Given the description of an element on the screen output the (x, y) to click on. 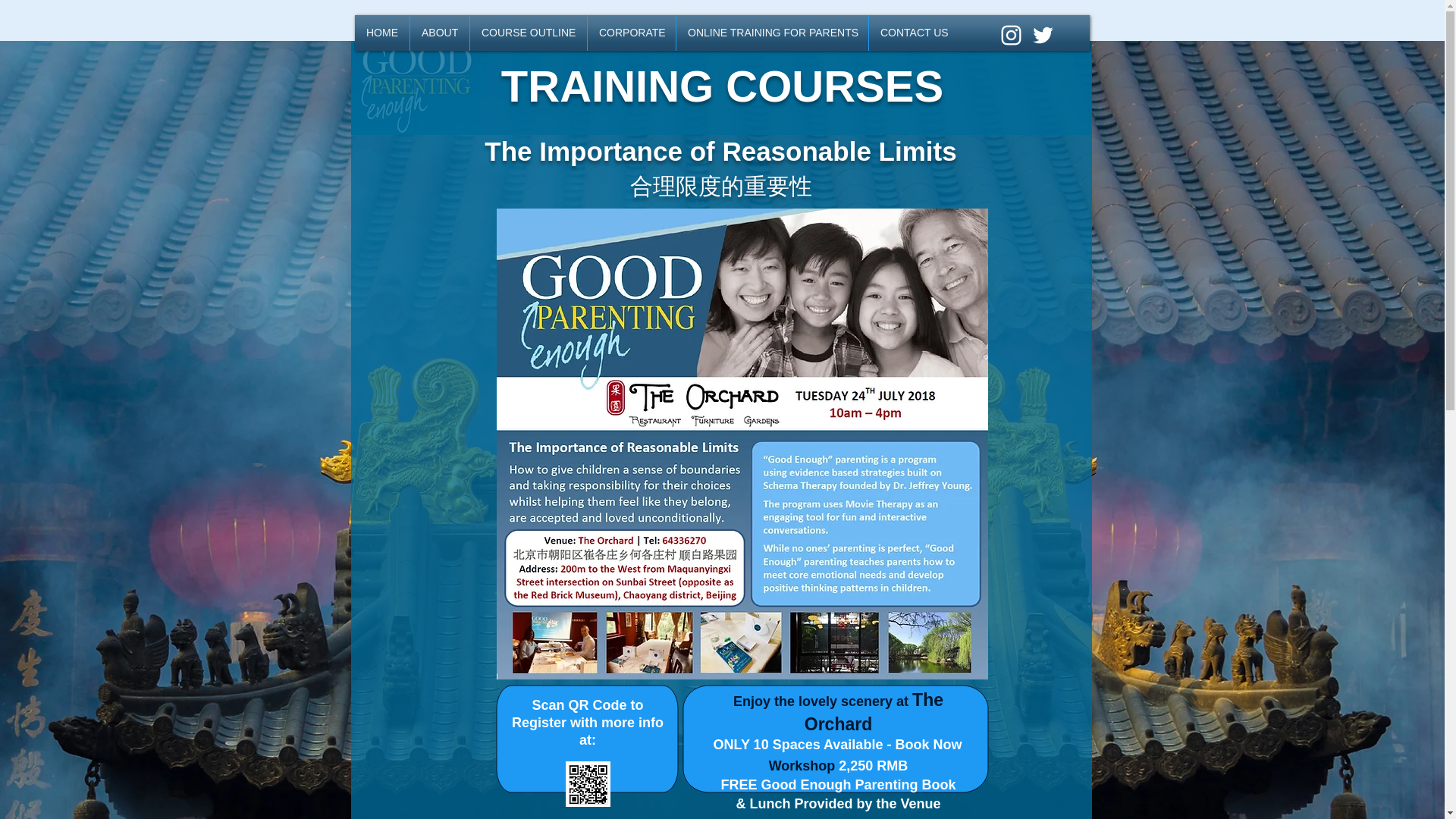
COURSE OUTLINE (528, 32)
CONTACT US (913, 32)
ABOUT (439, 32)
ONLINE TRAINING FOR PARENTS (771, 32)
CORPORATE (631, 32)
HOME (382, 32)
